Given the description of an element on the screen output the (x, y) to click on. 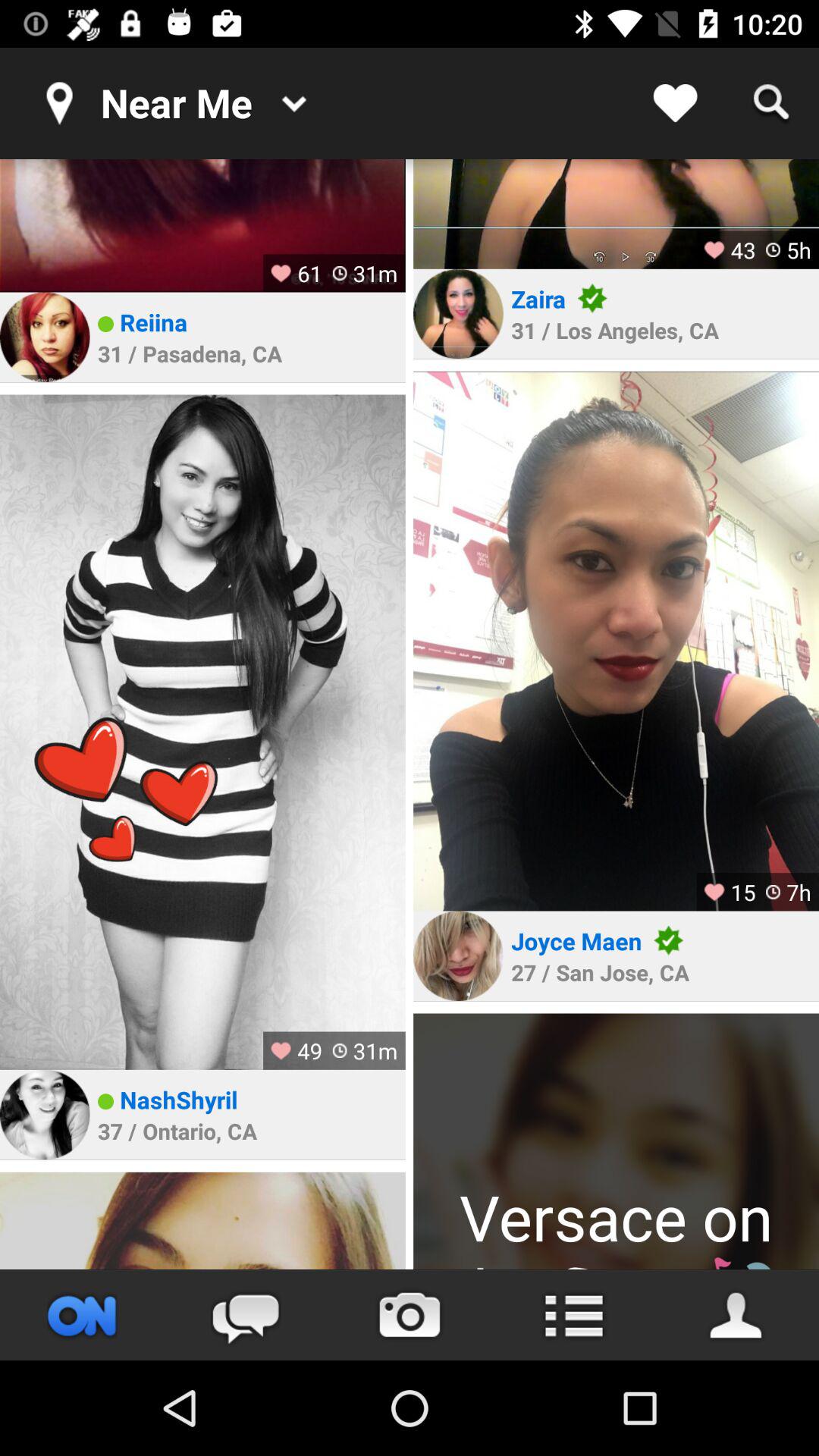
select profile (616, 641)
